Given the description of an element on the screen output the (x, y) to click on. 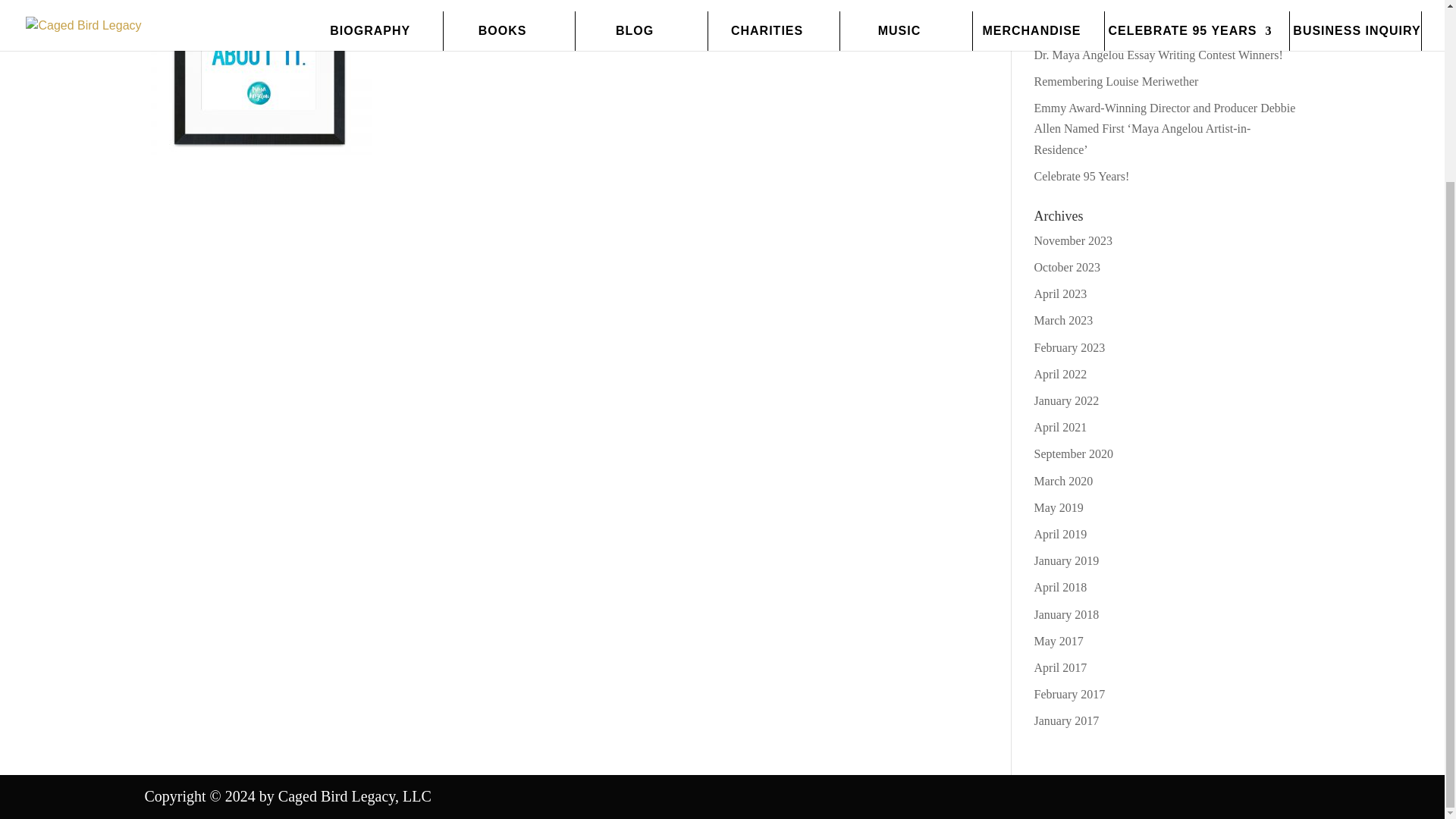
May 2019 (1058, 507)
April 2017 (1060, 667)
February 2017 (1069, 694)
January 2017 (1066, 720)
April 2023 (1060, 293)
April 2019 (1060, 533)
March 2023 (1063, 319)
January 2019 (1066, 560)
April 2022 (1060, 373)
Celebrate 95 Years! (1081, 175)
January 2022 (1066, 400)
February 2023 (1069, 347)
January 2018 (1066, 614)
September 2020 (1073, 453)
